Given the description of an element on the screen output the (x, y) to click on. 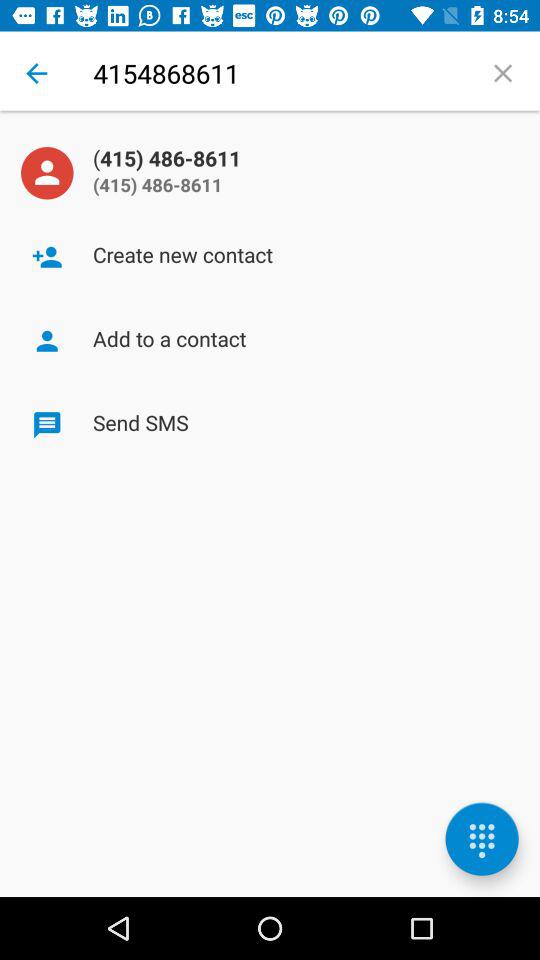
select back button on a page (36, 73)
select close icon on the right corner of the screen (503, 73)
select the icon in the bottom right corner (482, 839)
click on the icon on left side of text send sms (47, 425)
click on the icon left to the text add to a contact (47, 340)
click on the text 4154868611 (279, 73)
